Given the description of an element on the screen output the (x, y) to click on. 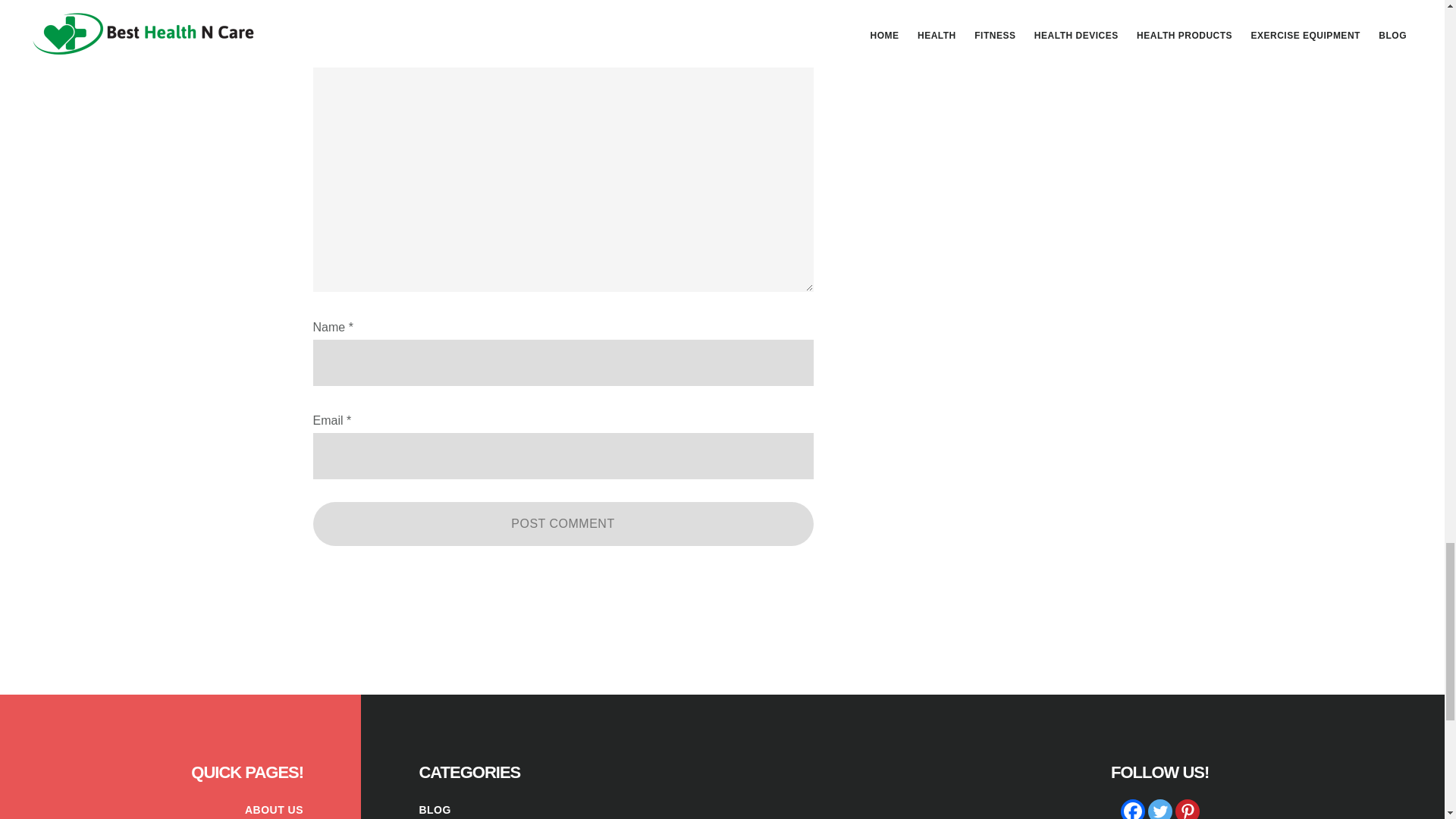
Post Comment (562, 524)
